Given the description of an element on the screen output the (x, y) to click on. 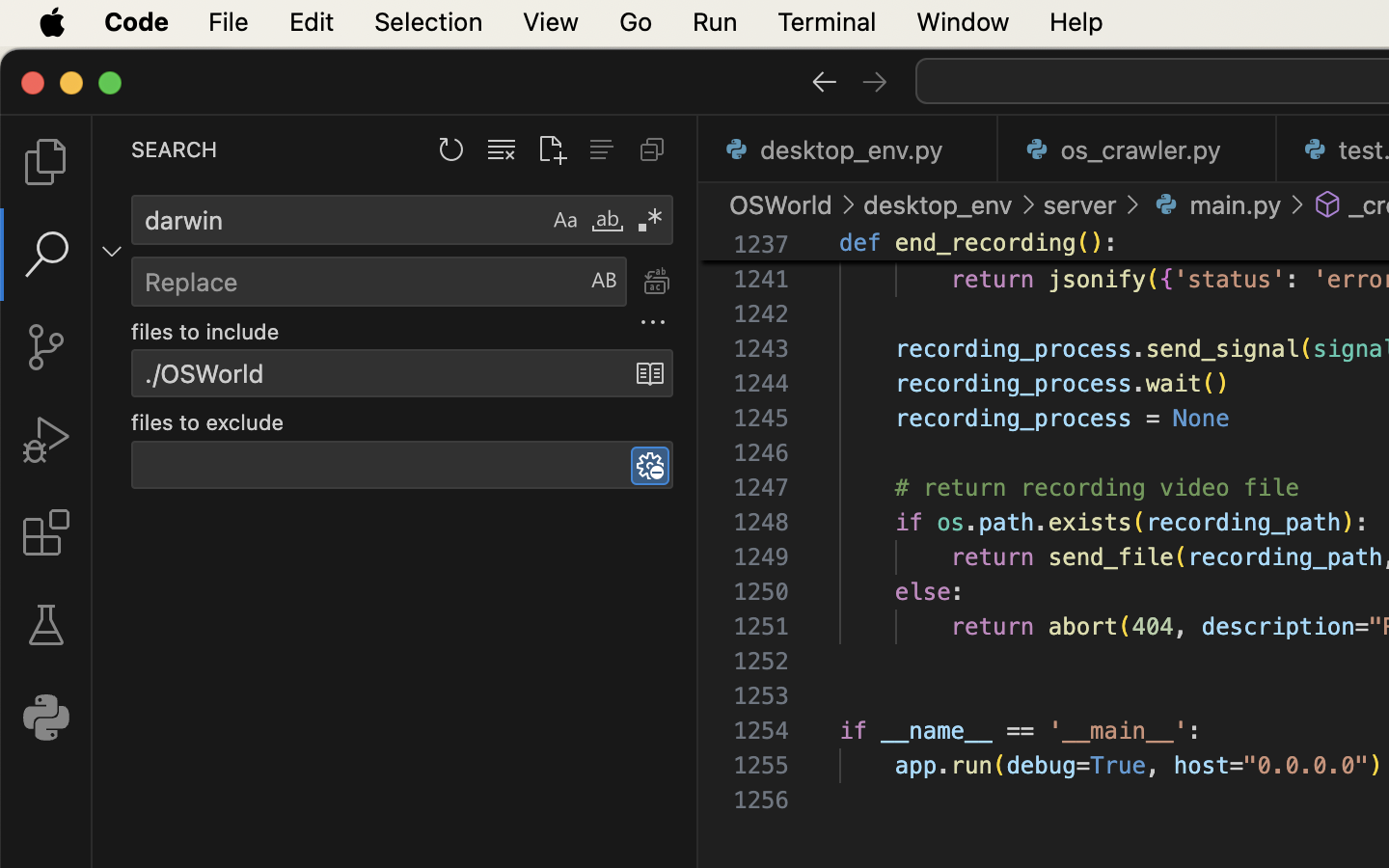
0  Element type: AXRadioButton (46, 161)
server Element type: AXGroup (1079, 204)
OSWorld Element type: AXGroup (781, 204)
0  Element type: AXRadioButton (46, 624)
main.py  Element type: AXGroup (1214, 204)
